Given the description of an element on the screen output the (x, y) to click on. 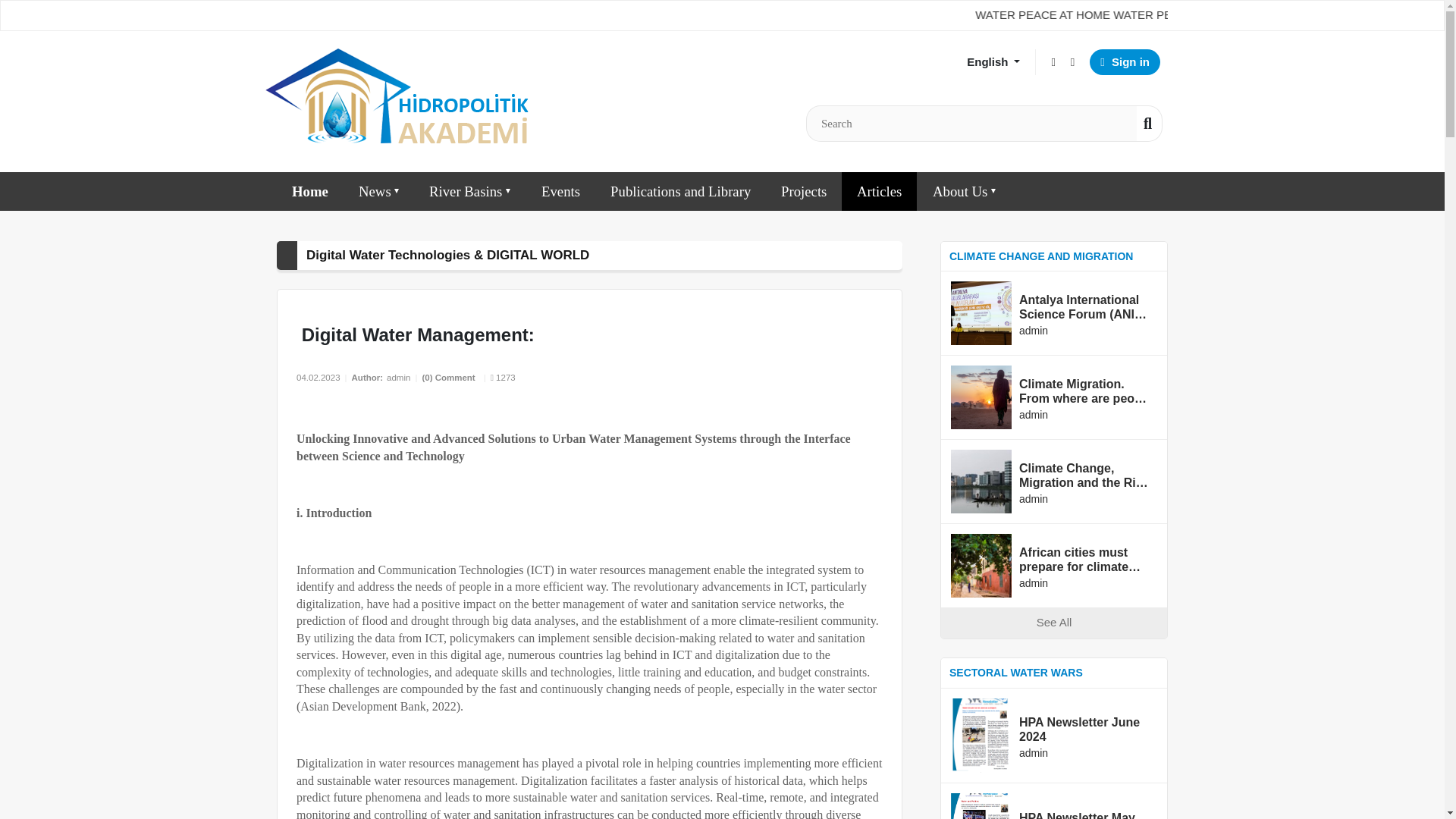
English (993, 62)
River Basins (469, 190)
Sign in (1124, 62)
Articles (879, 190)
Home (309, 190)
Projects (803, 190)
About Us (963, 190)
Publications and Library (680, 190)
Events (560, 190)
News (378, 190)
